Given the description of an element on the screen output the (x, y) to click on. 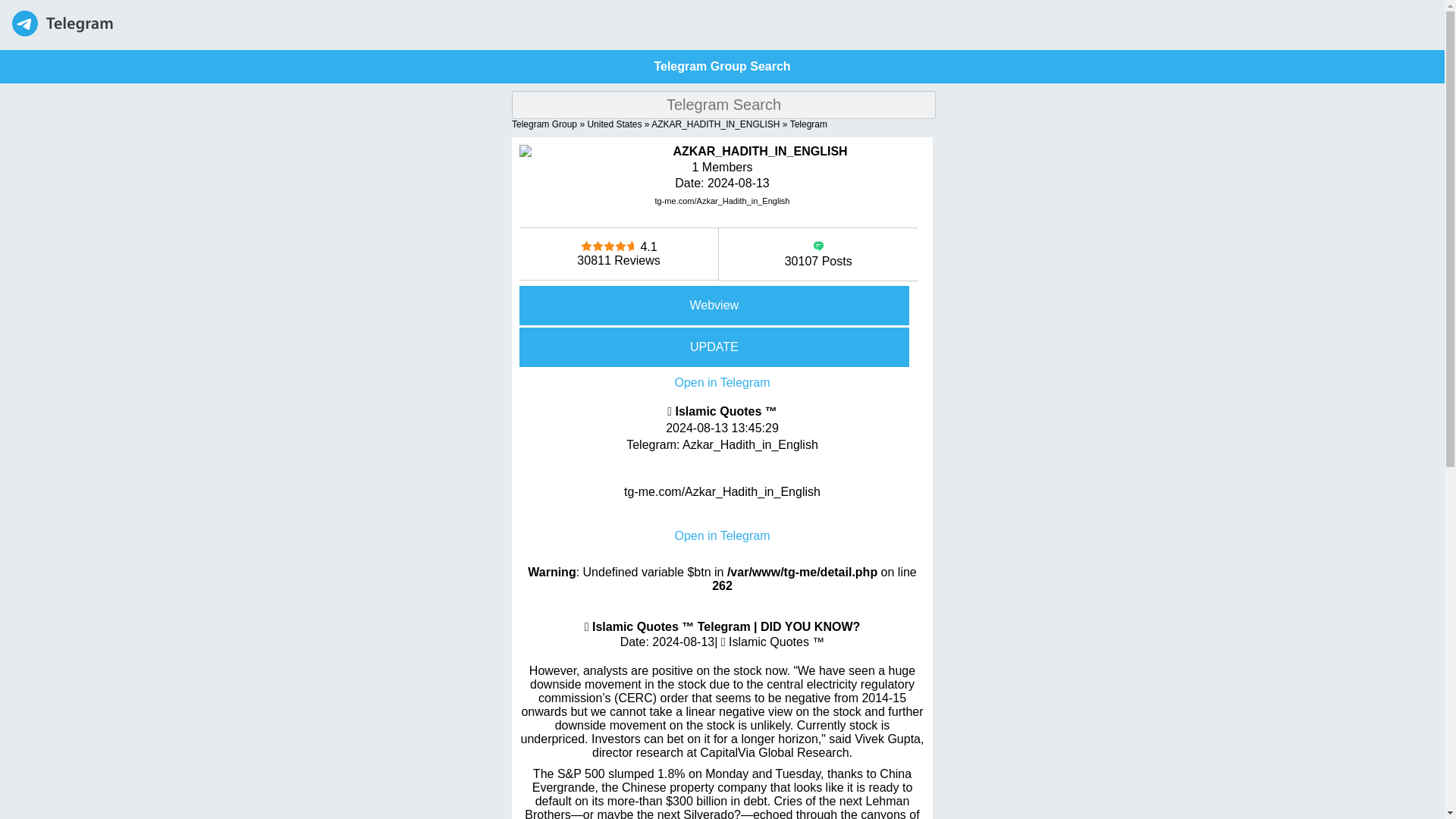
Open in Telegram (722, 535)
Webview (721, 305)
2024-08-13 13:45:29 (722, 428)
Telegram Group Search (721, 65)
UPDATE (721, 346)
Open in Telegram (722, 382)
Telegram Group (544, 123)
United States (614, 123)
